Given the description of an element on the screen output the (x, y) to click on. 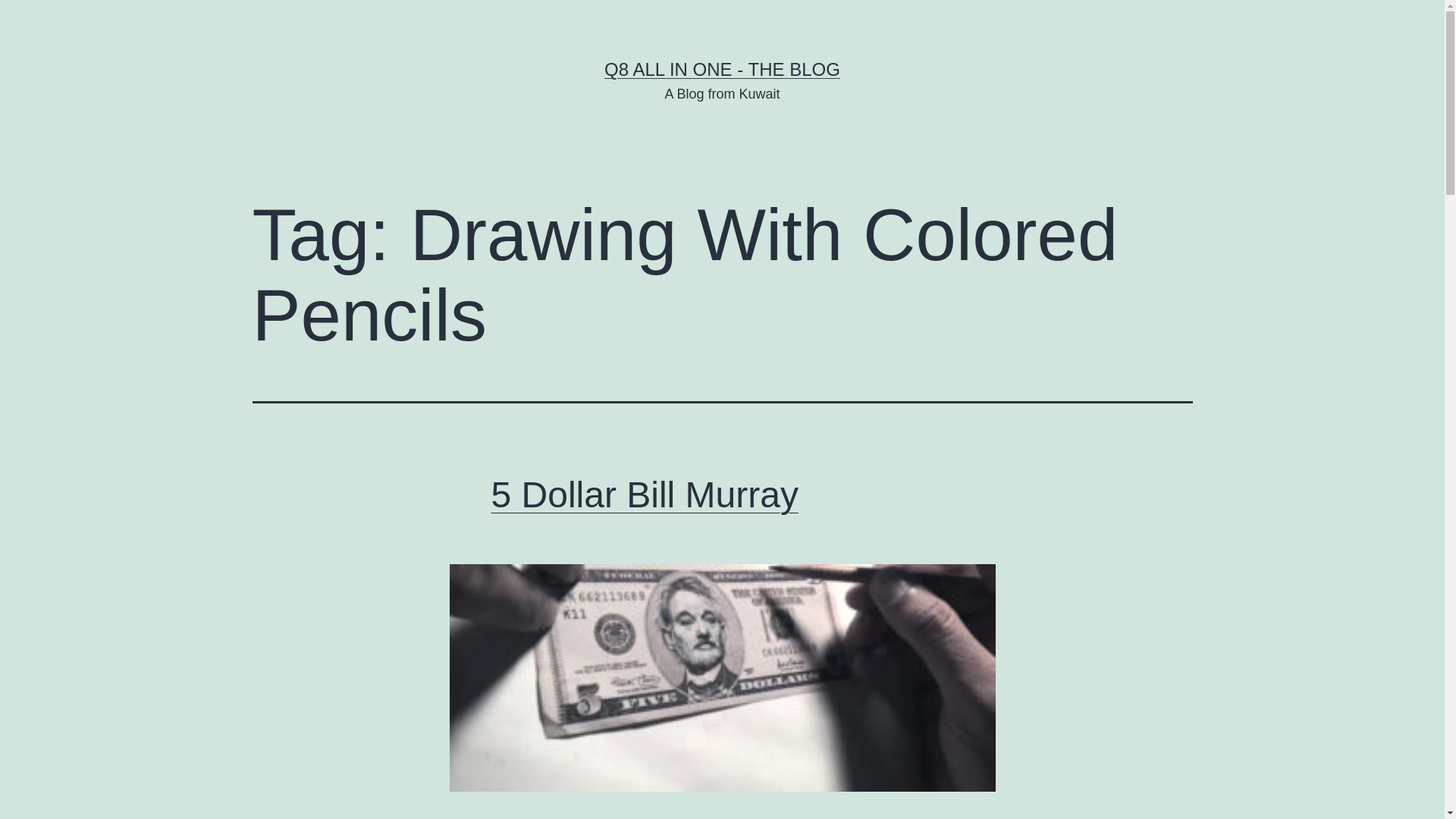
5 Dollar Bill Murray (644, 495)
Q8 ALL IN ONE - THE BLOG (722, 68)
